Given the description of an element on the screen output the (x, y) to click on. 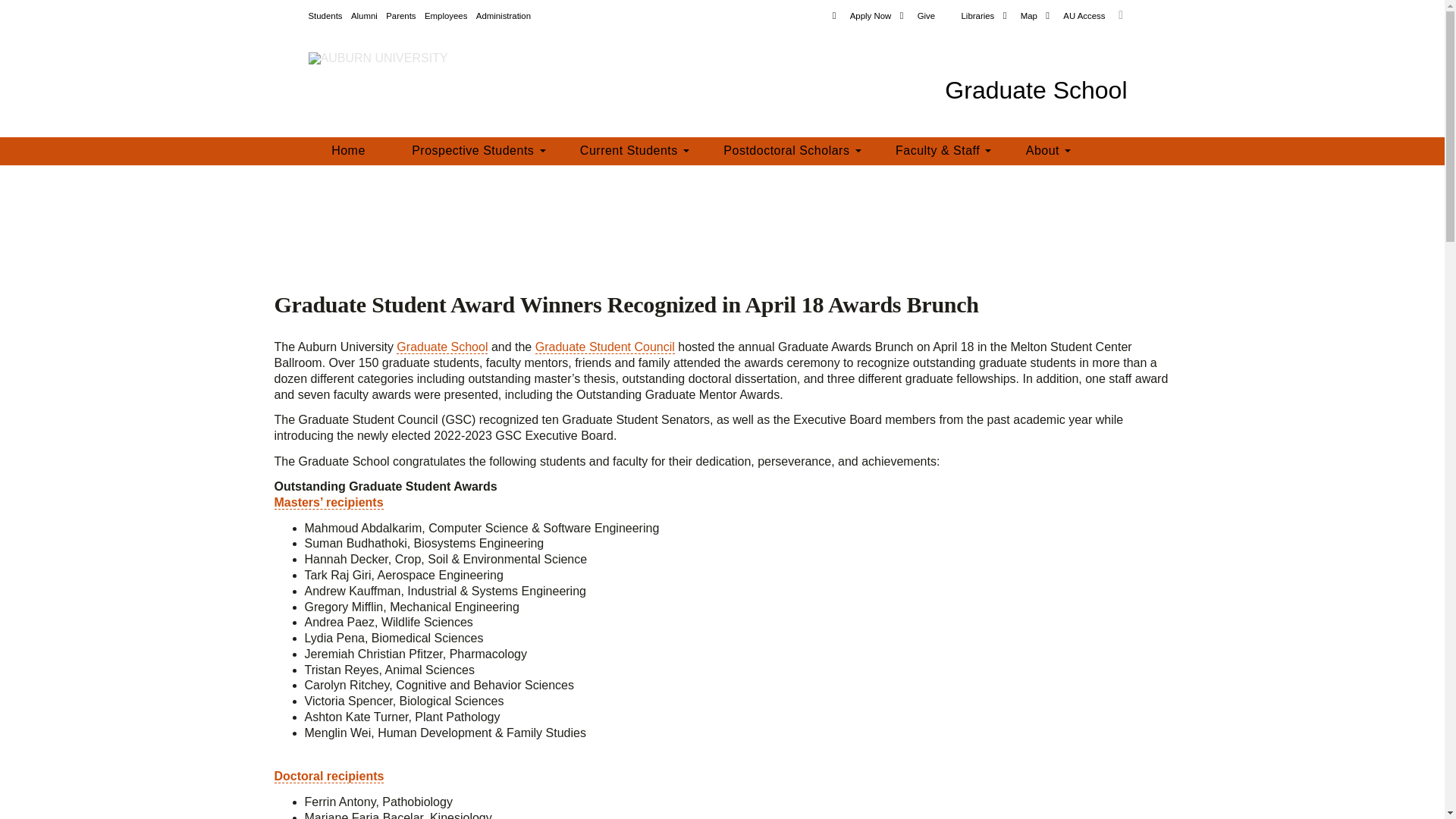
TOGGLE SEARCH INTERFACE (1120, 15)
Alumni (363, 17)
Give (916, 17)
Students (324, 17)
Home (347, 151)
Libraries (968, 17)
Map (1019, 17)
Apply Now (861, 17)
Employees (446, 17)
Prospective Students (472, 151)
